Given the description of an element on the screen output the (x, y) to click on. 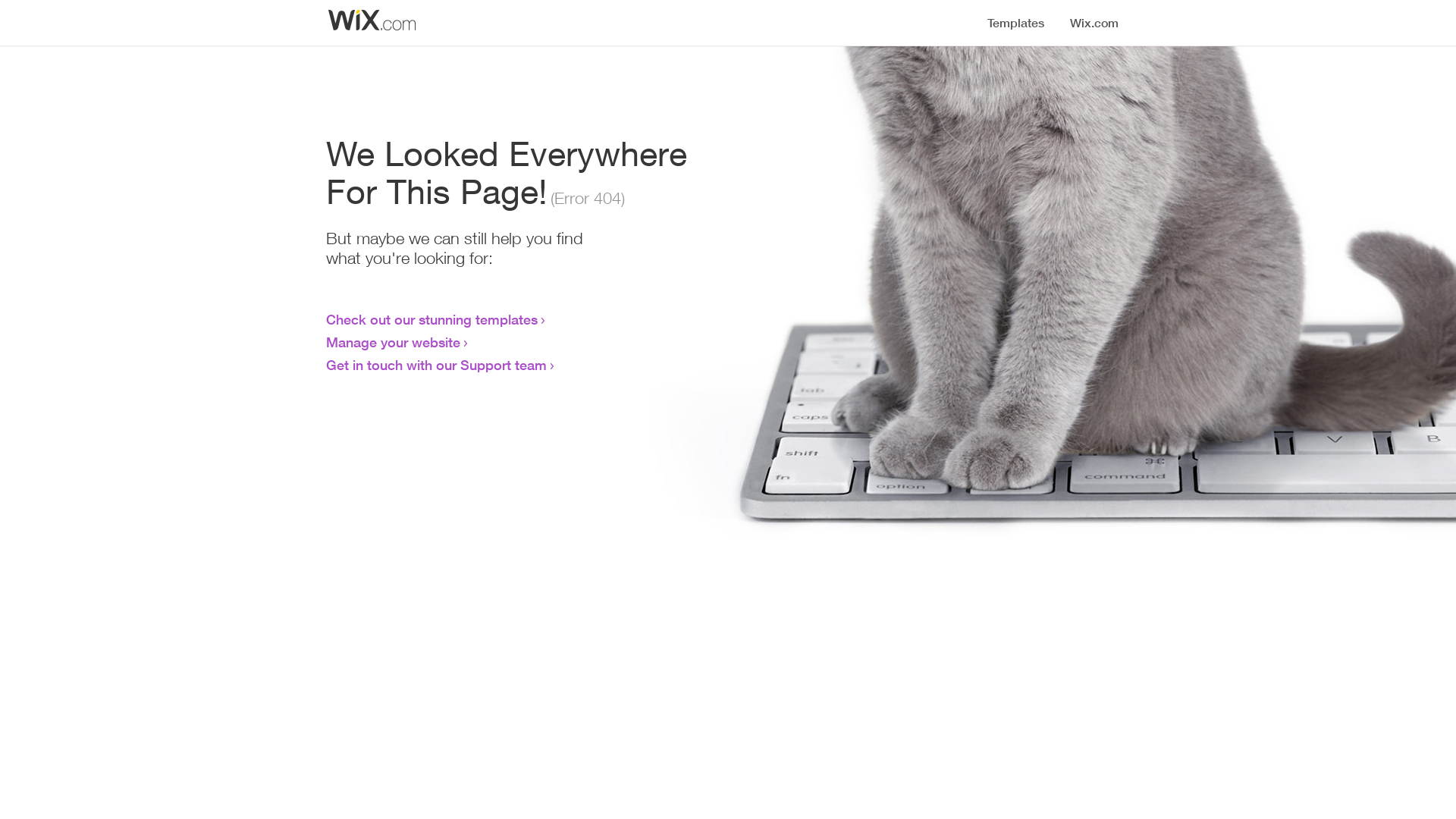
Check out our stunning templates Element type: text (431, 318)
Manage your website Element type: text (393, 341)
Get in touch with our Support team Element type: text (436, 364)
